Given the description of an element on the screen output the (x, y) to click on. 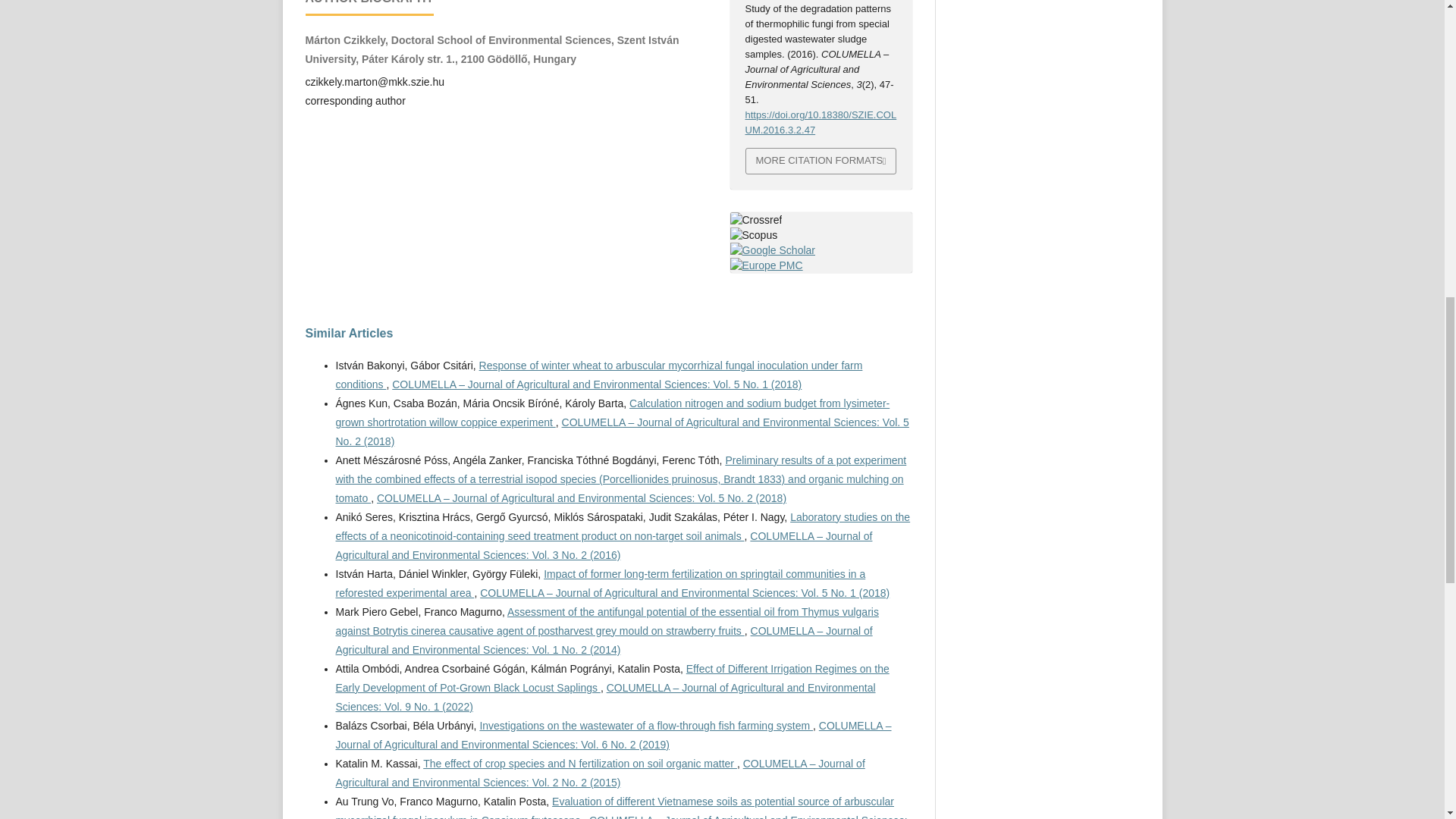
MORE CITATION FORMATS (820, 160)
